Given the description of an element on the screen output the (x, y) to click on. 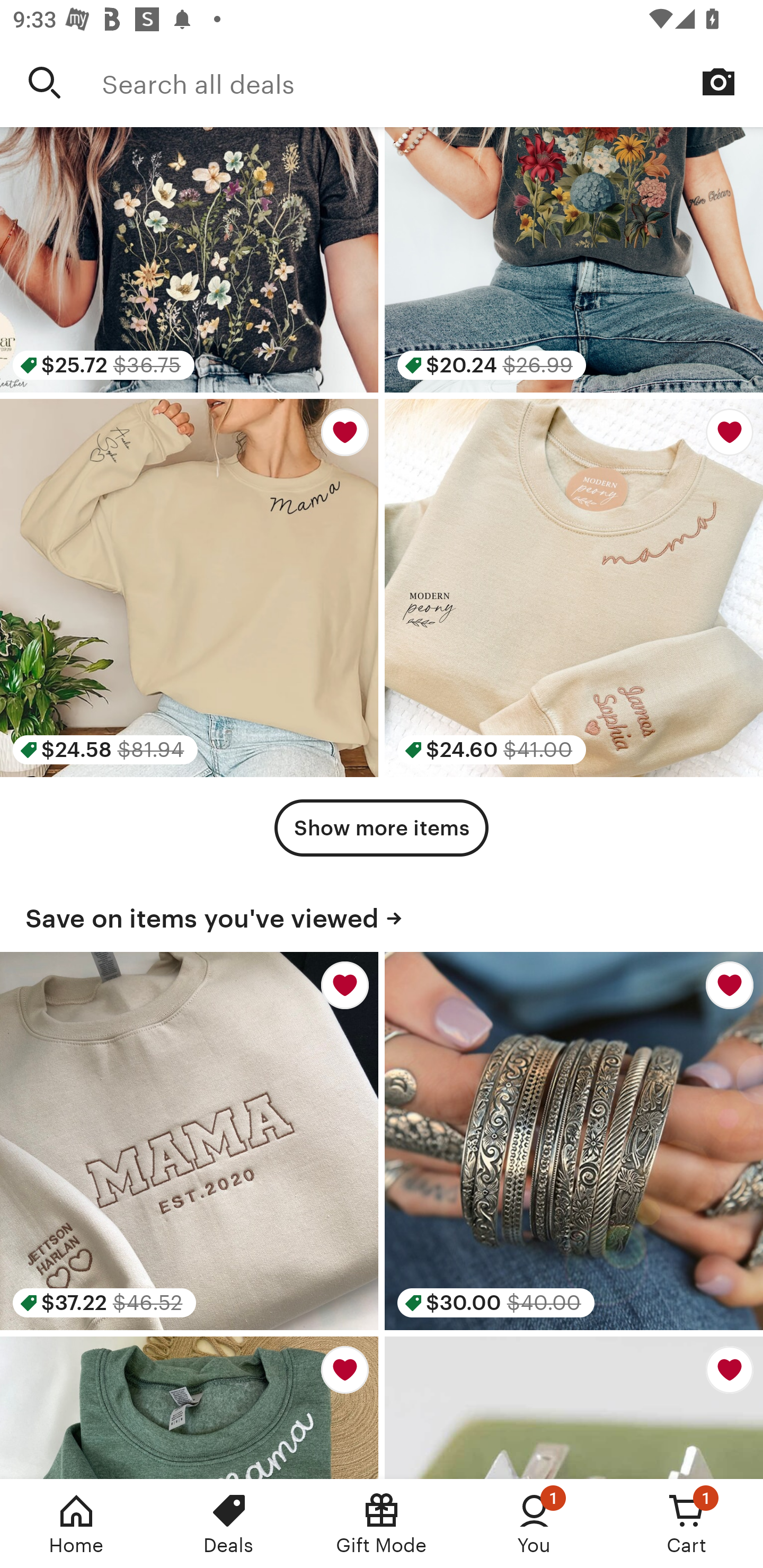
Search for anything on Etsy (44, 82)
Search by image (718, 81)
Search all deals (432, 82)
Show more items (381, 827)
Save on items you've viewed (381, 914)
Home (76, 1523)
Gift Mode (381, 1523)
You, 1 new notification You (533, 1523)
Cart, 1 new notification Cart (686, 1523)
